Given the description of an element on the screen output the (x, y) to click on. 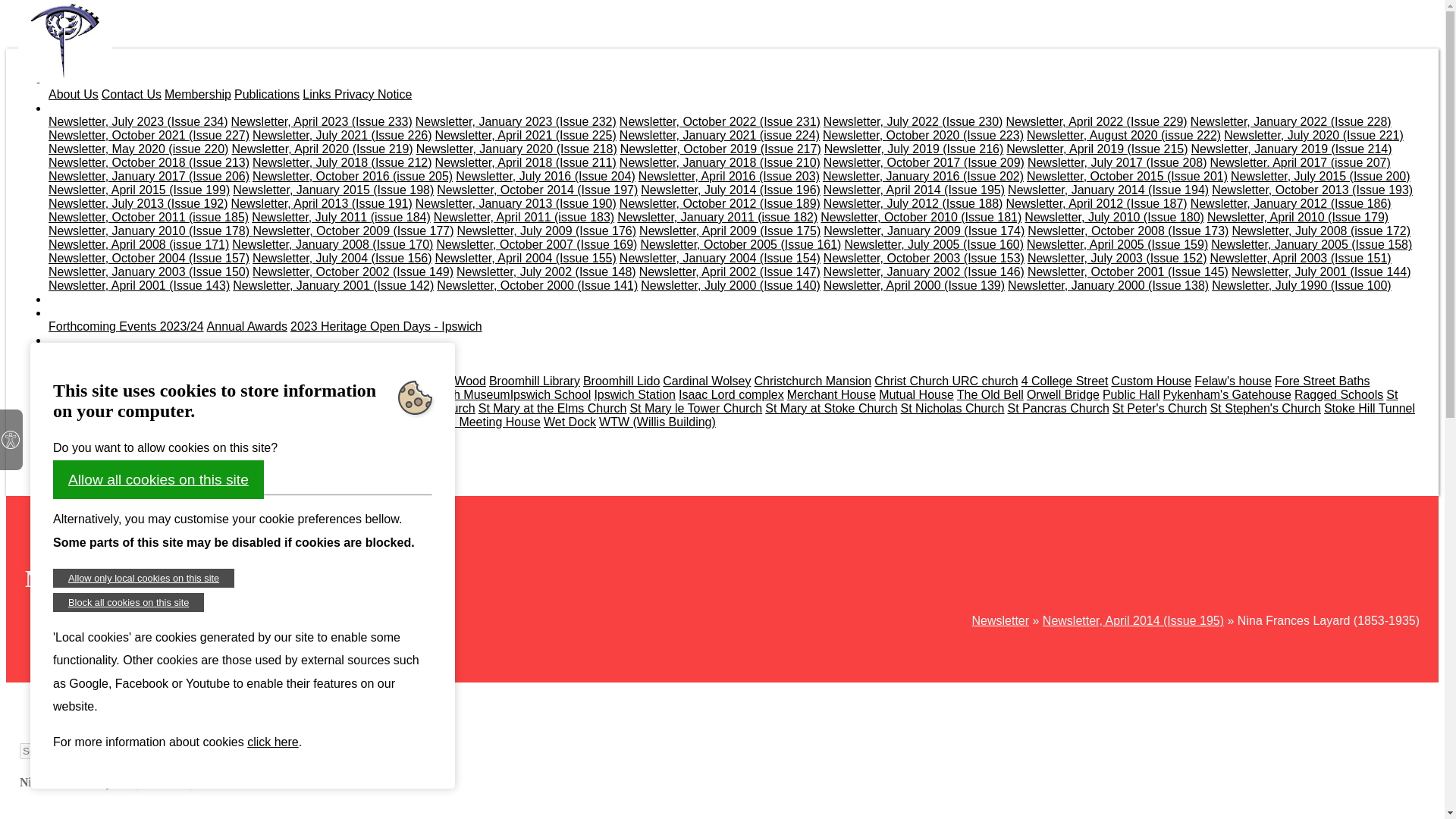
Newsletter (77, 107)
Membership (197, 93)
About Us (73, 93)
Privacy Notice (373, 93)
Links (318, 93)
Publications (266, 93)
Home (64, 80)
Contact Us (131, 93)
